Given the description of an element on the screen output the (x, y) to click on. 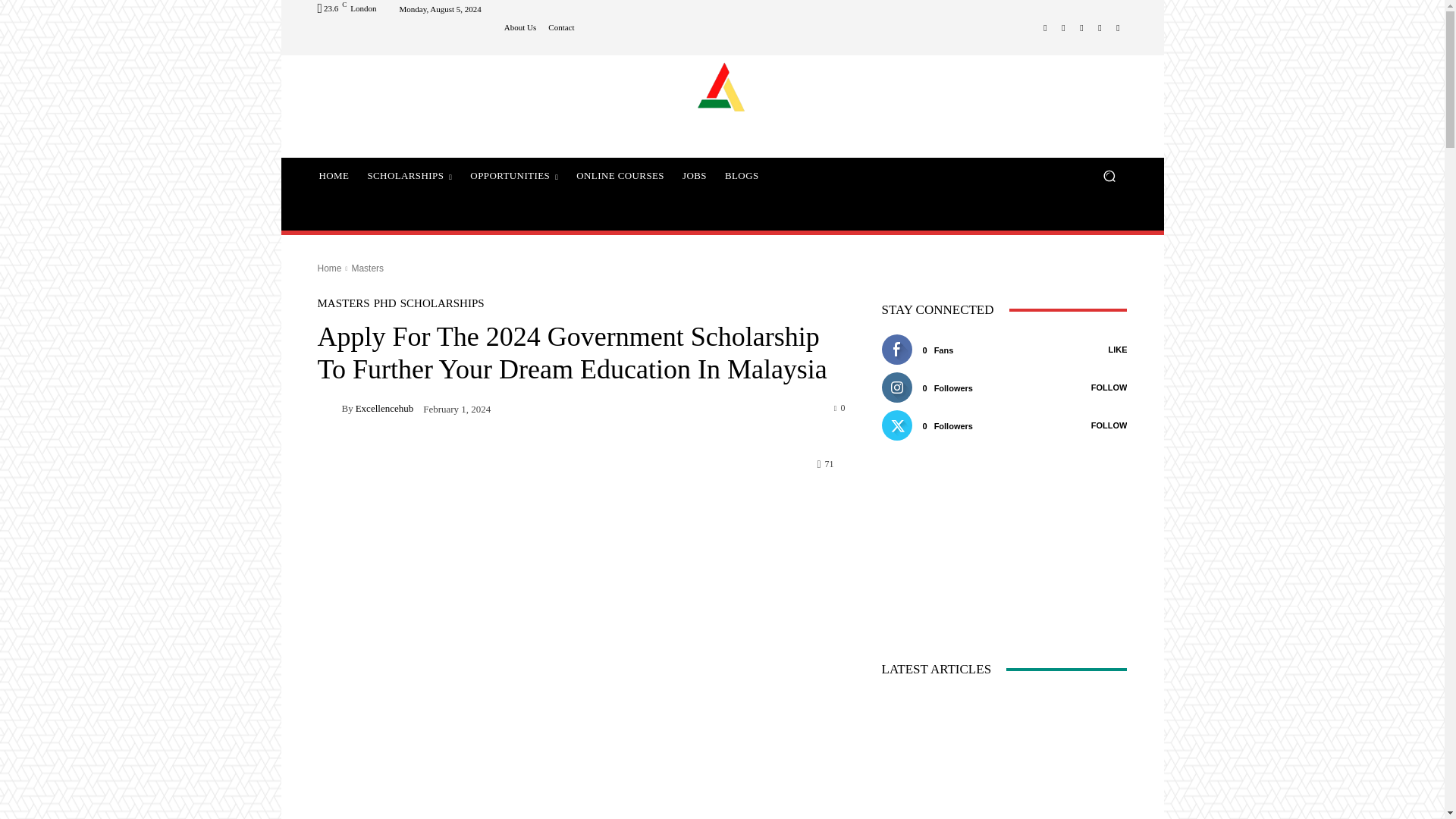
Facebook (1044, 27)
Twitter (1099, 27)
HOME (333, 176)
JOBS (694, 176)
ONLINE COURSES (619, 176)
OPPORTUNITIES (514, 176)
BLOGS (742, 176)
Contact (560, 27)
Telegram (1080, 27)
SCHOLARSHIPS (409, 176)
WhatsApp (1117, 27)
About Us (519, 27)
Instagram (1062, 27)
View all posts in Masters (367, 267)
excellencehub (328, 407)
